Given the description of an element on the screen output the (x, y) to click on. 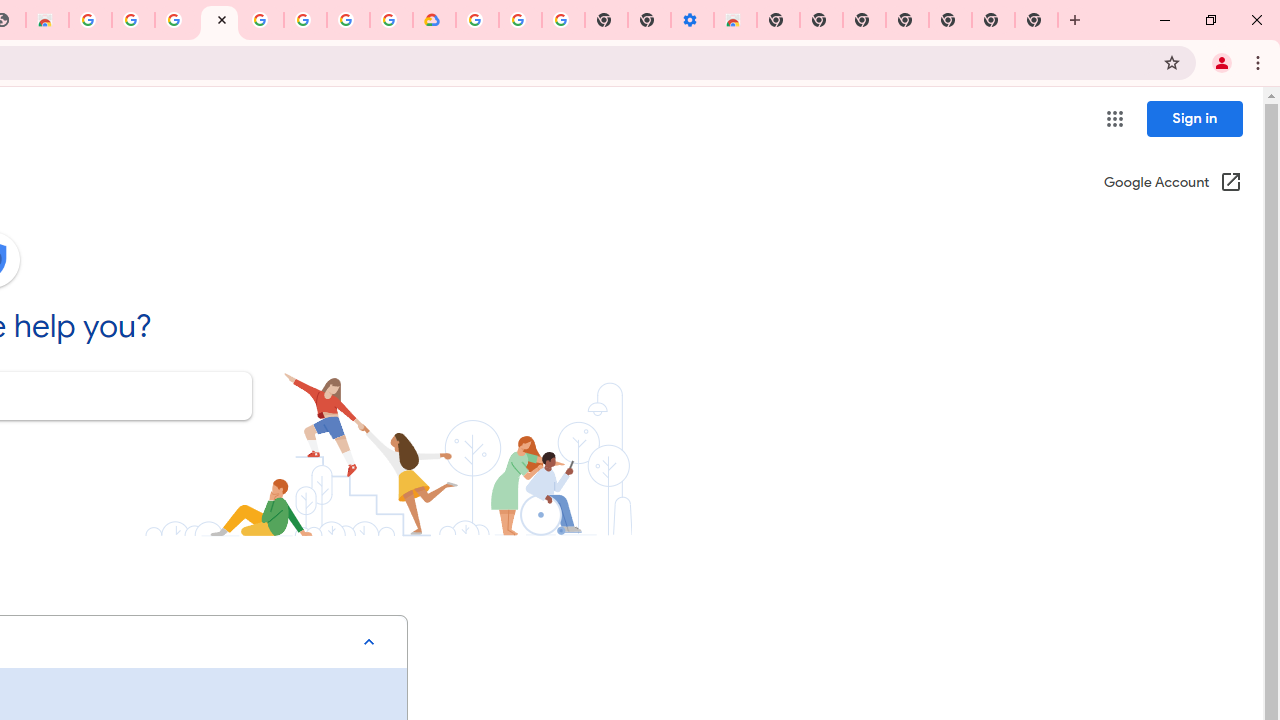
Ad Settings (132, 20)
Sign in - Google Accounts (477, 20)
Turn cookies on or off - Computer - Google Account Help (562, 20)
Chrome Web Store - Household (47, 20)
New Tab (1036, 20)
Chrome Web Store - Accessibility extensions (735, 20)
Google Account (Open in a new window) (1172, 183)
